Given the description of an element on the screen output the (x, y) to click on. 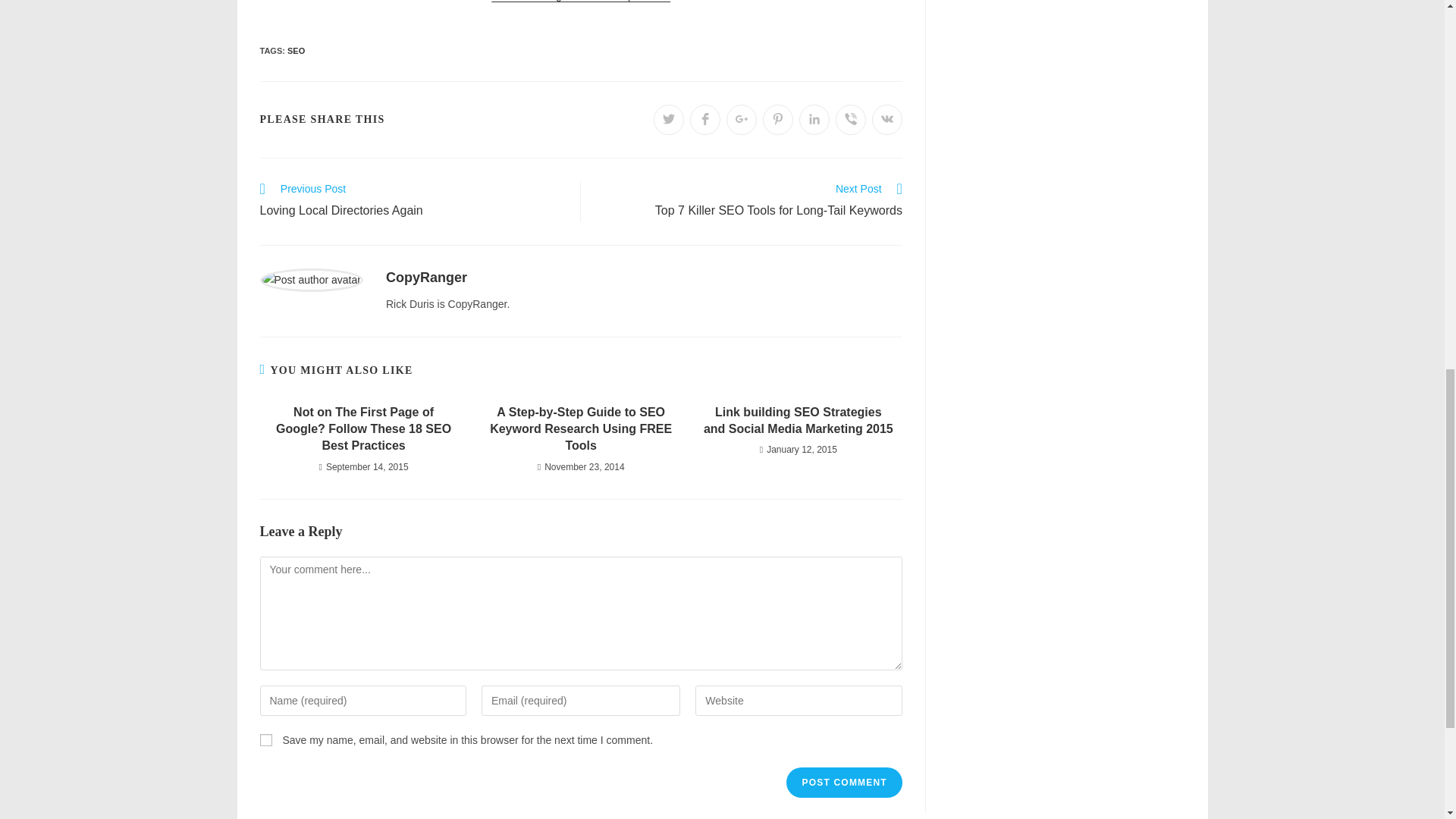
Opens in a new window (668, 119)
Opens in a new window (777, 119)
Opens in a new window (705, 119)
Opens in a new window (850, 119)
Opens in a new window (748, 200)
yes (814, 119)
Opens in a new window (411, 200)
Are we making SEO too complicated? (264, 739)
